Given the description of an element on the screen output the (x, y) to click on. 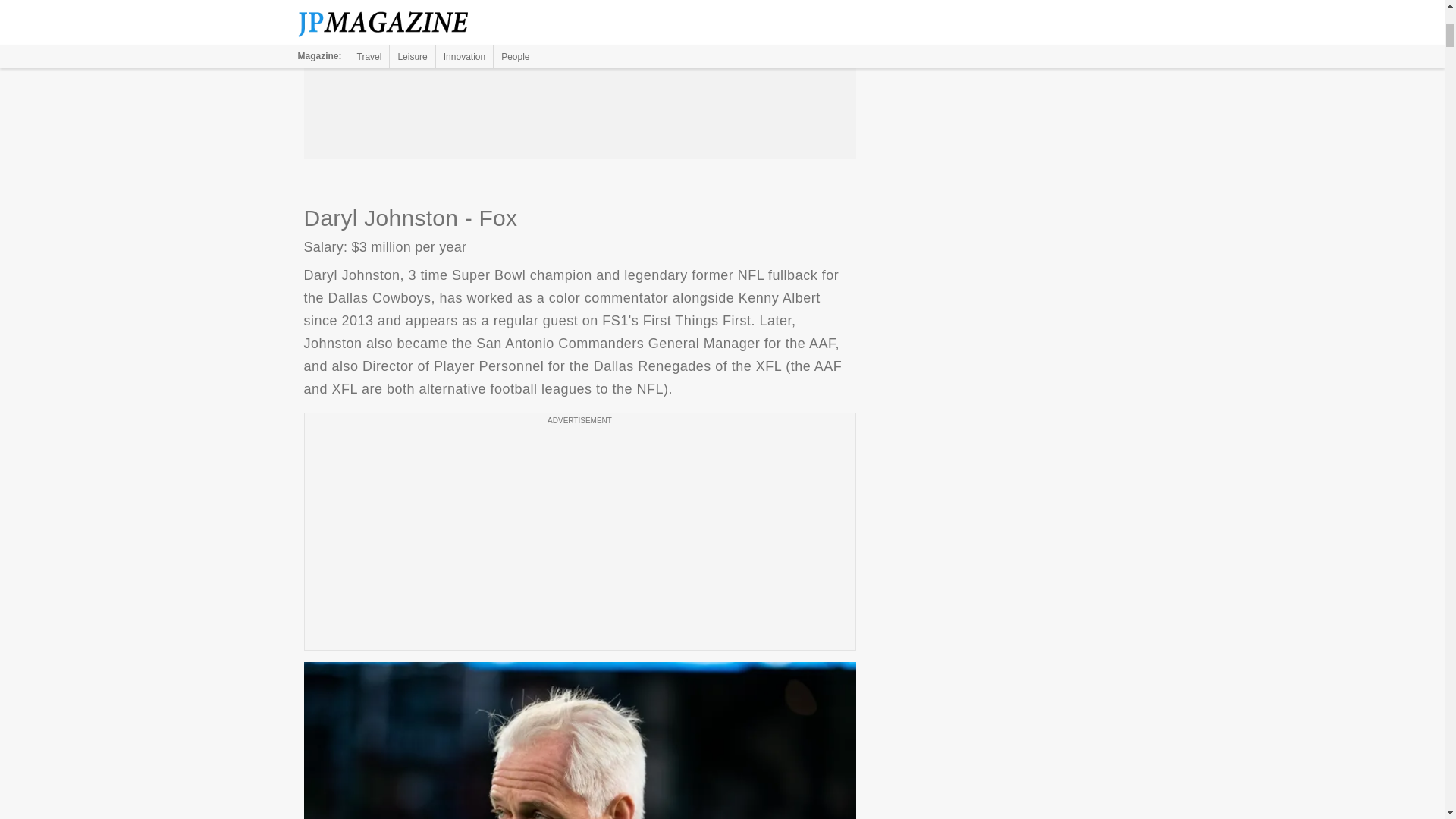
Daryl Johnston - Fox (579, 740)
